Given the description of an element on the screen output the (x, y) to click on. 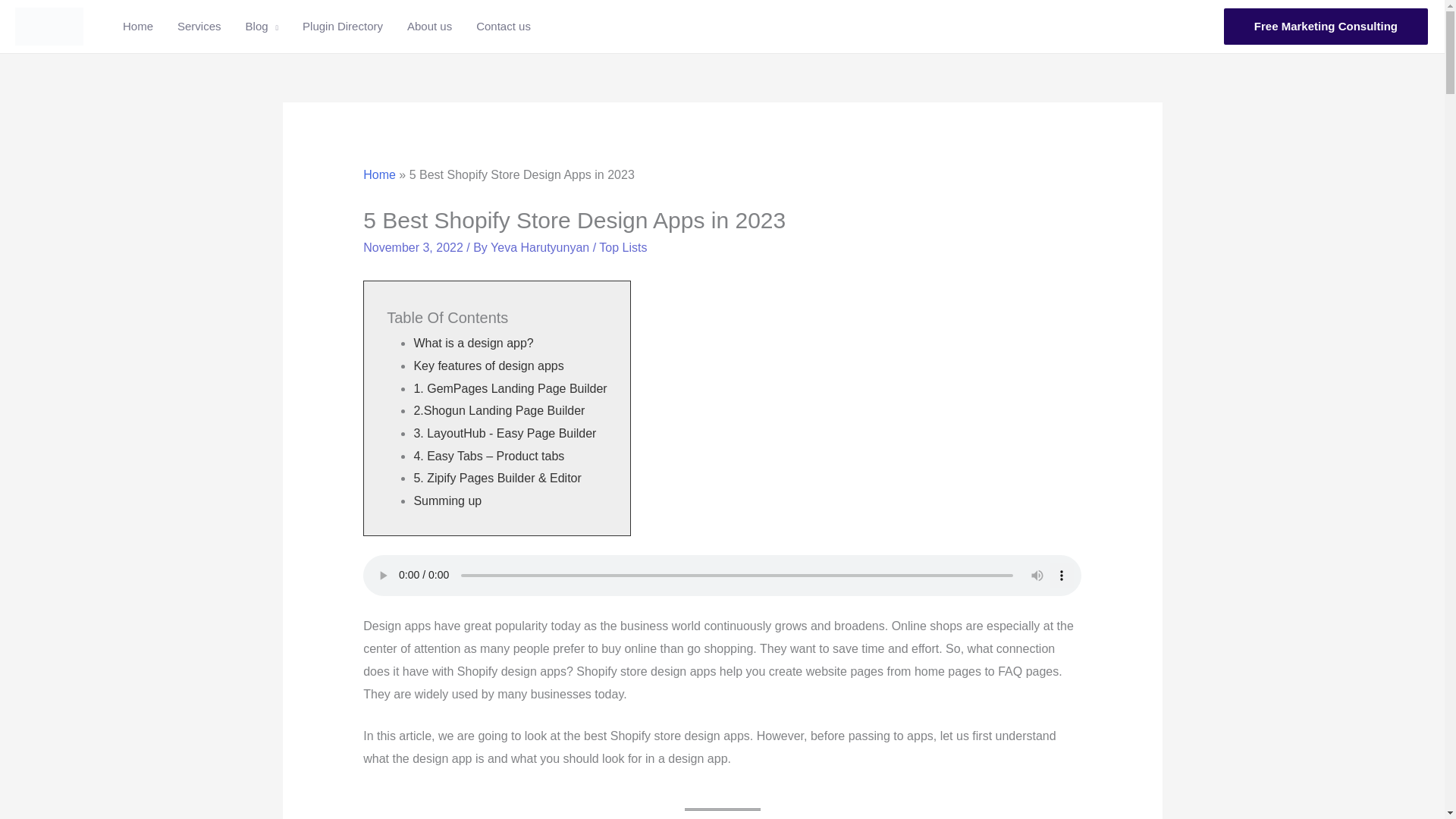
Home (137, 26)
View all posts by Yeva Harutyunyan (541, 246)
Contact us (503, 26)
Plugin Directory (341, 26)
Blog (261, 26)
About us (429, 26)
Free Marketing Consulting (1326, 25)
Services (198, 26)
